Given the description of an element on the screen output the (x, y) to click on. 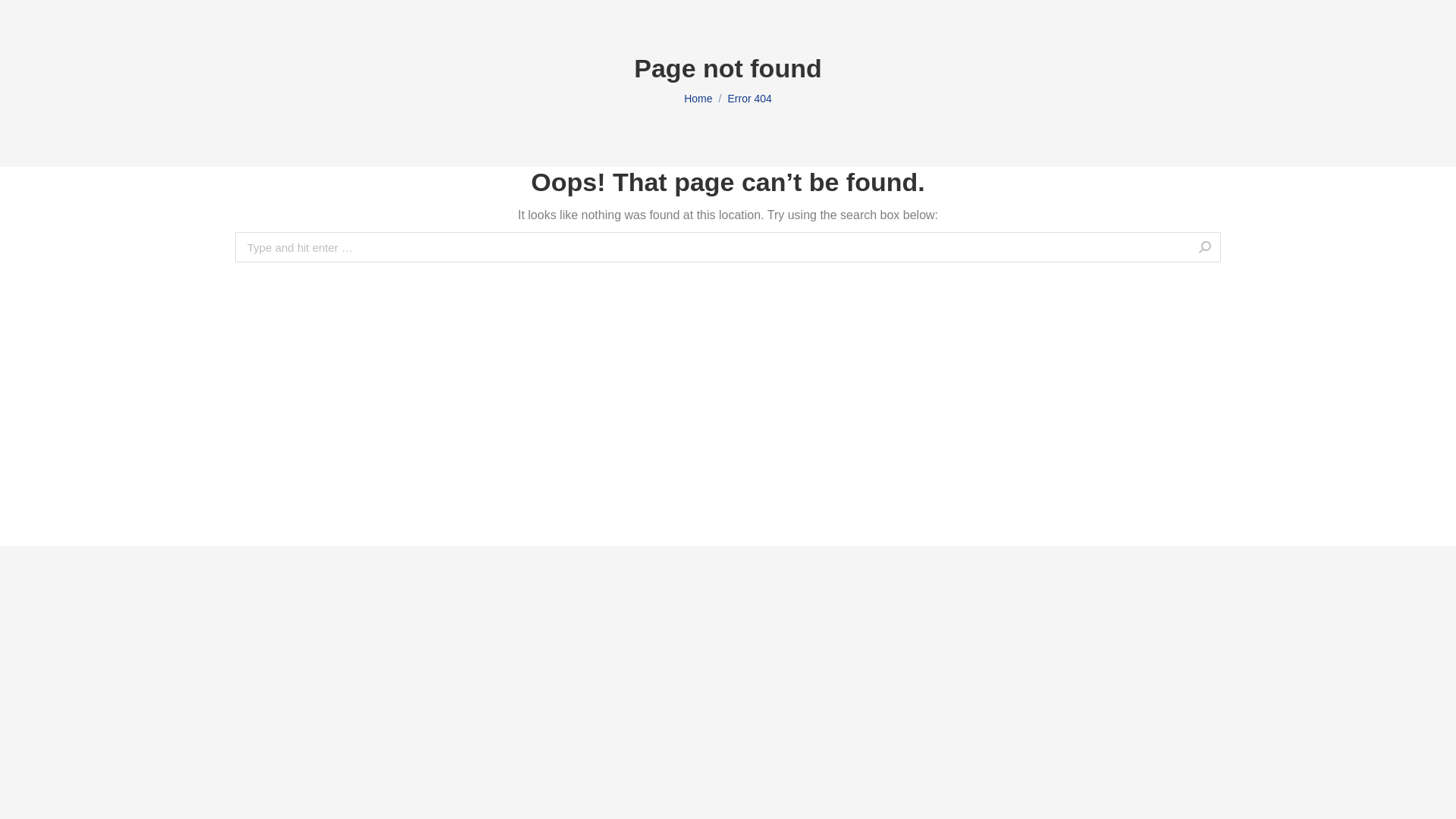
Home Element type: text (698, 98)
Go! Element type: text (1243, 248)
